Given the description of an element on the screen output the (x, y) to click on. 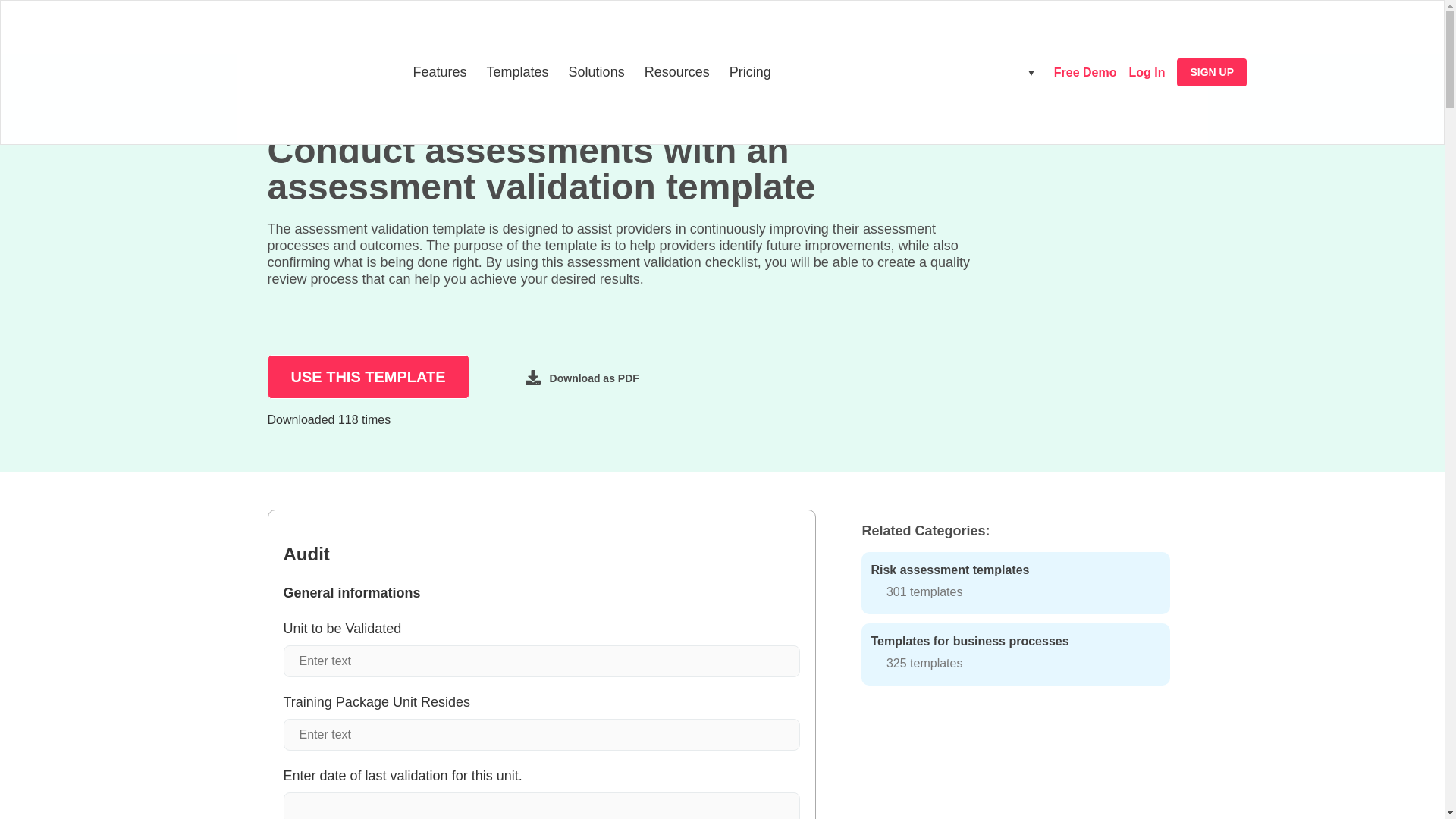
Templates (518, 72)
Features (439, 72)
Risk assessment templates (1015, 583)
Templates for business processes (1015, 654)
Solutions (597, 72)
